Given the description of an element on the screen output the (x, y) to click on. 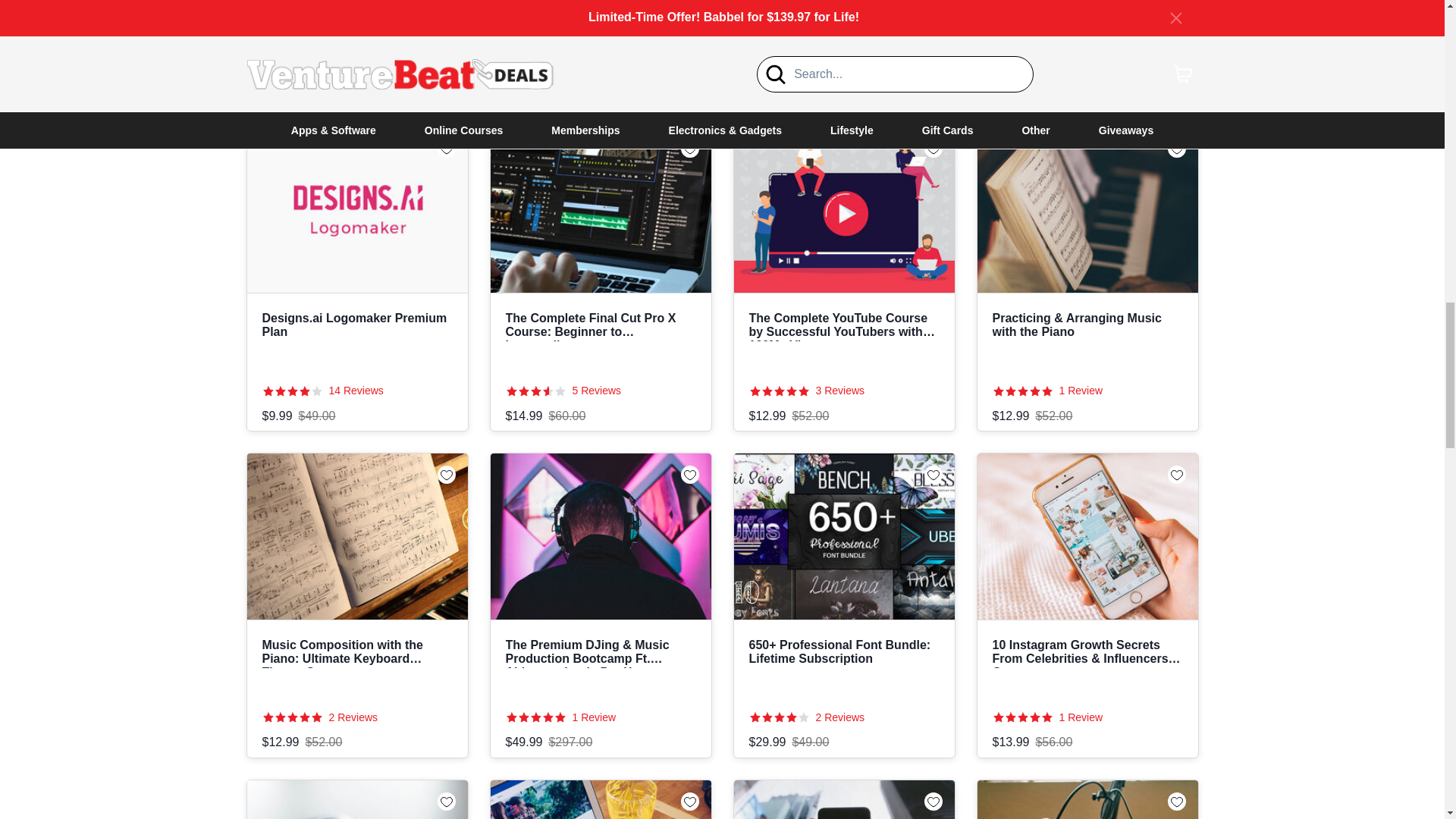
The Complete Videography Bundle: Beginner to Expert (599, 49)
The Complete Photography Side Business Bundle (357, 49)
